Given the description of an element on the screen output the (x, y) to click on. 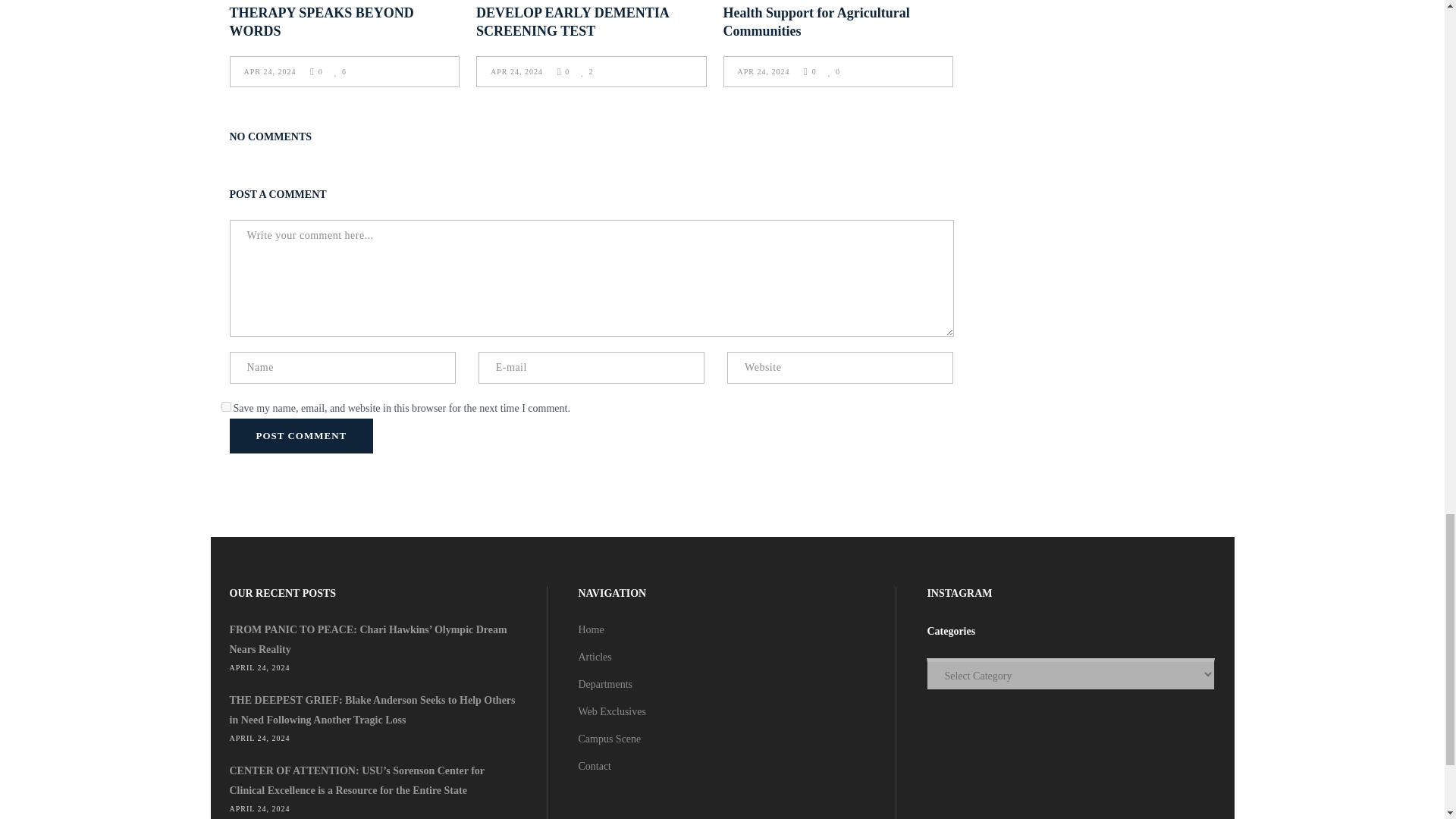
MORE THAN TALK: MUSIC THERAPY SPEAKS BEYOND WORDS (320, 19)
yes (226, 406)
Like this (834, 71)
Like this (586, 71)
POST COMMENT (300, 435)
Like this (340, 71)
USU CENTER HELPING TO DEVELOP EARLY DEMENTIA SCREENING TEST (572, 19)
